Given the description of an element on the screen output the (x, y) to click on. 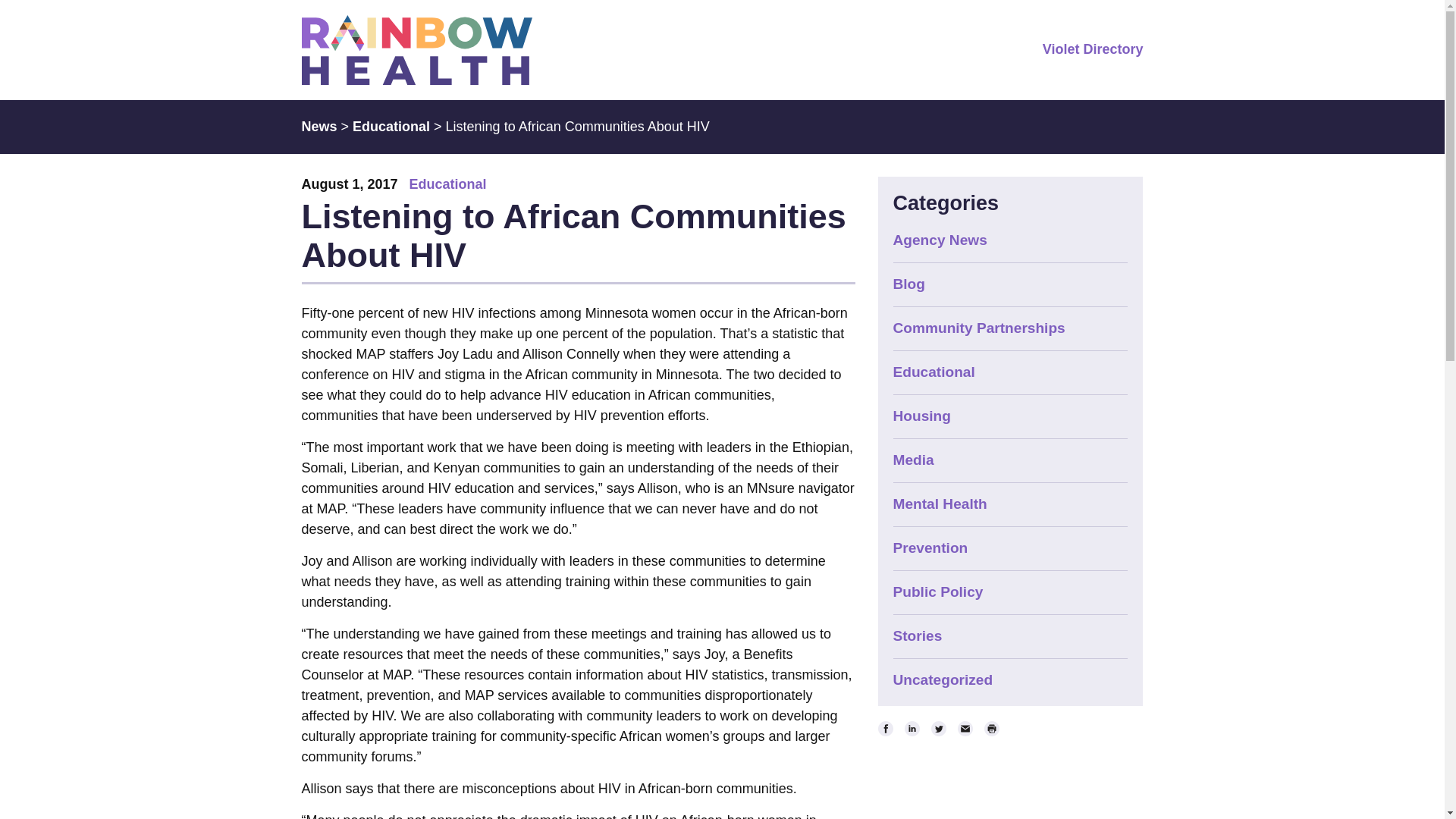
Share on Facebook (885, 728)
Educational (934, 371)
Email (965, 728)
Stories (917, 635)
Public Policy (938, 591)
Uncategorized (942, 679)
Blog (908, 283)
Share on LinkedIn (912, 728)
Educational (447, 183)
Violet Directory (1092, 48)
Share on Twitter (938, 728)
Agency News (940, 239)
Community Partnerships (979, 327)
Educational (390, 125)
News (319, 125)
